Given the description of an element on the screen output the (x, y) to click on. 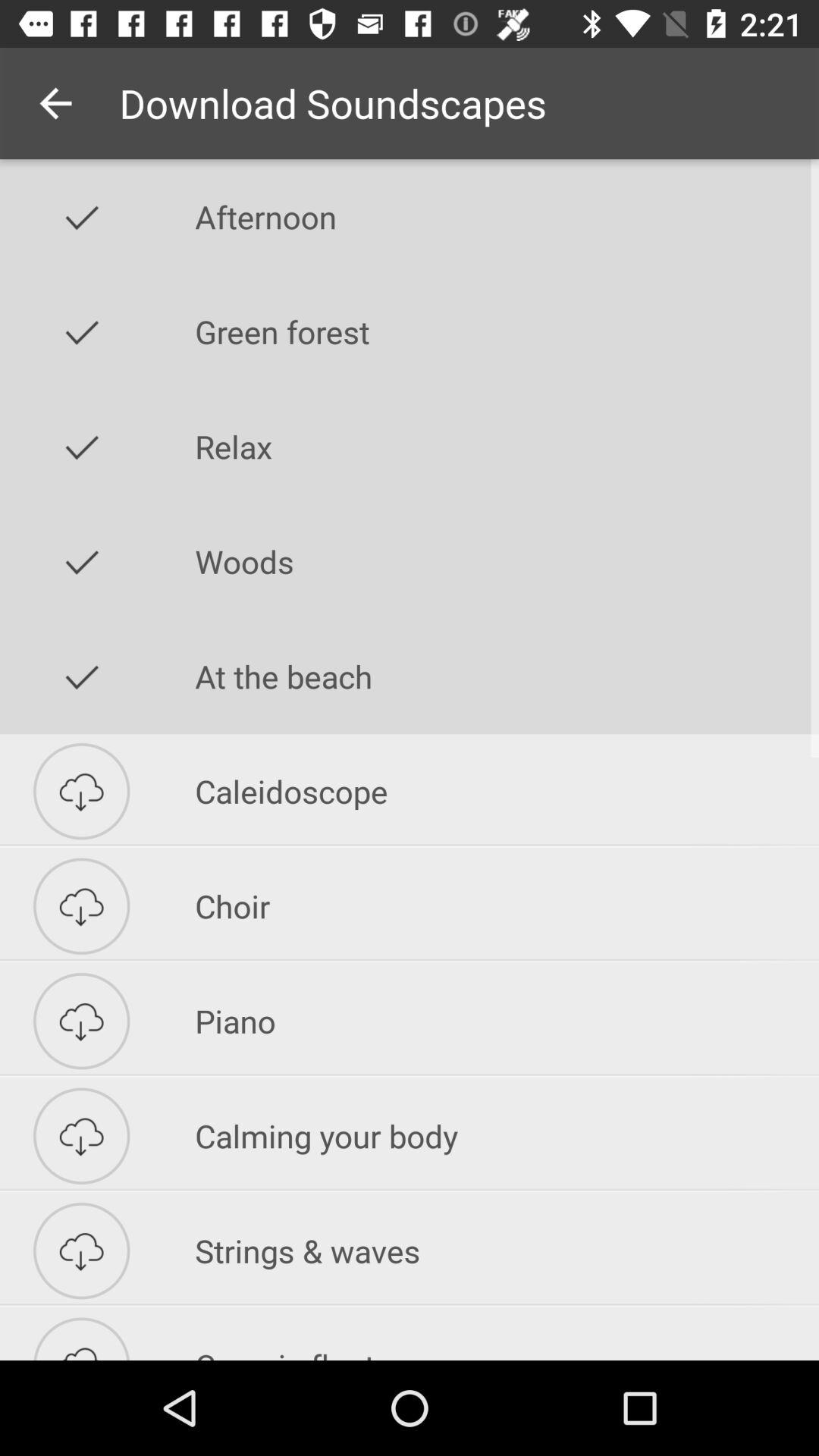
turn off icon below the green forest icon (507, 446)
